Given the description of an element on the screen output the (x, y) to click on. 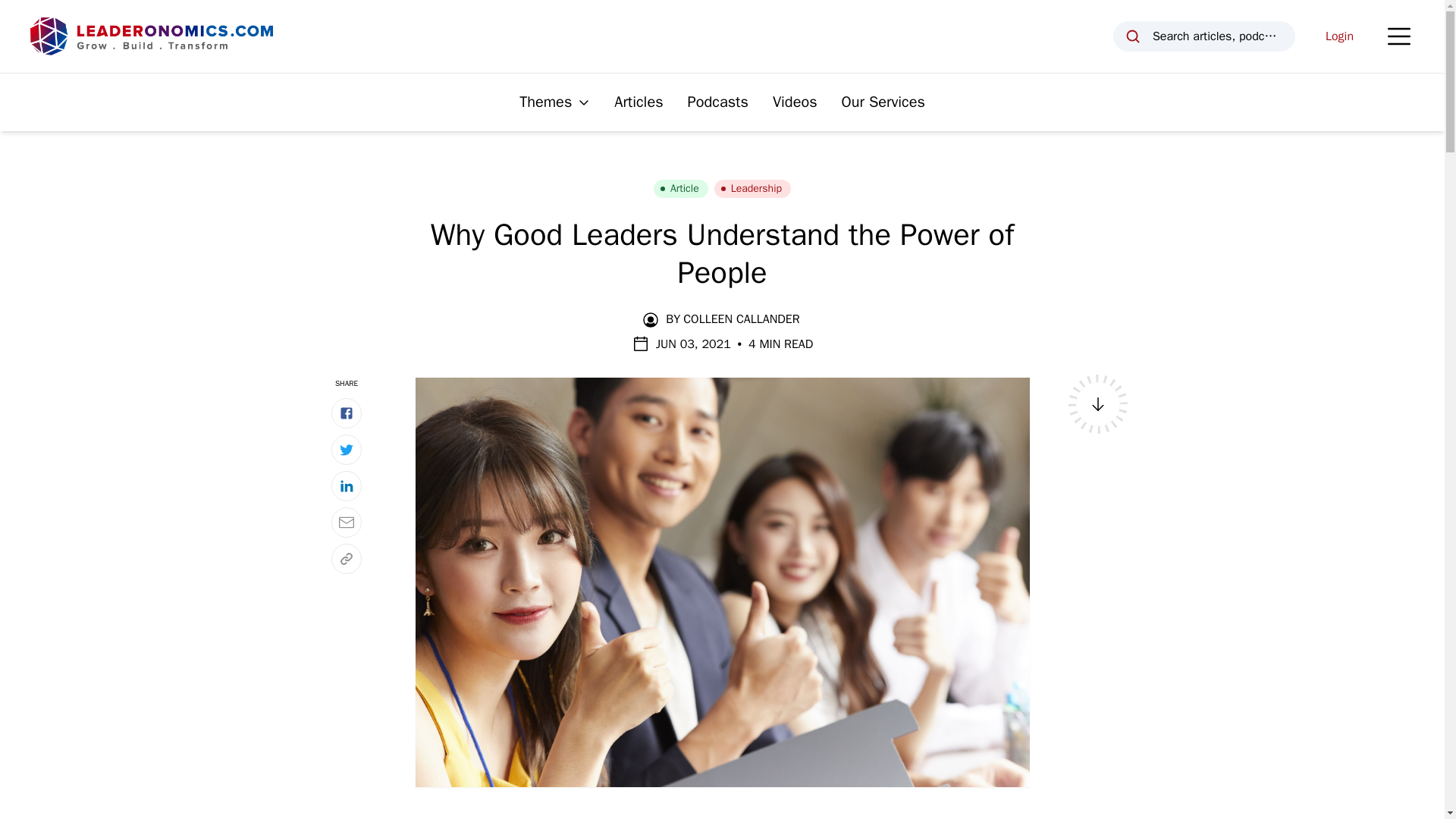
Search articles, podcasts, videos, resources, and authors. (1204, 36)
Articles (638, 102)
Videos (794, 102)
Article (680, 188)
Themes (554, 102)
Open Sidebar Menu (1398, 36)
COLLEEN CALLANDER (740, 319)
Our Services (882, 102)
Leadership (752, 188)
Podcasts (717, 102)
